Given the description of an element on the screen output the (x, y) to click on. 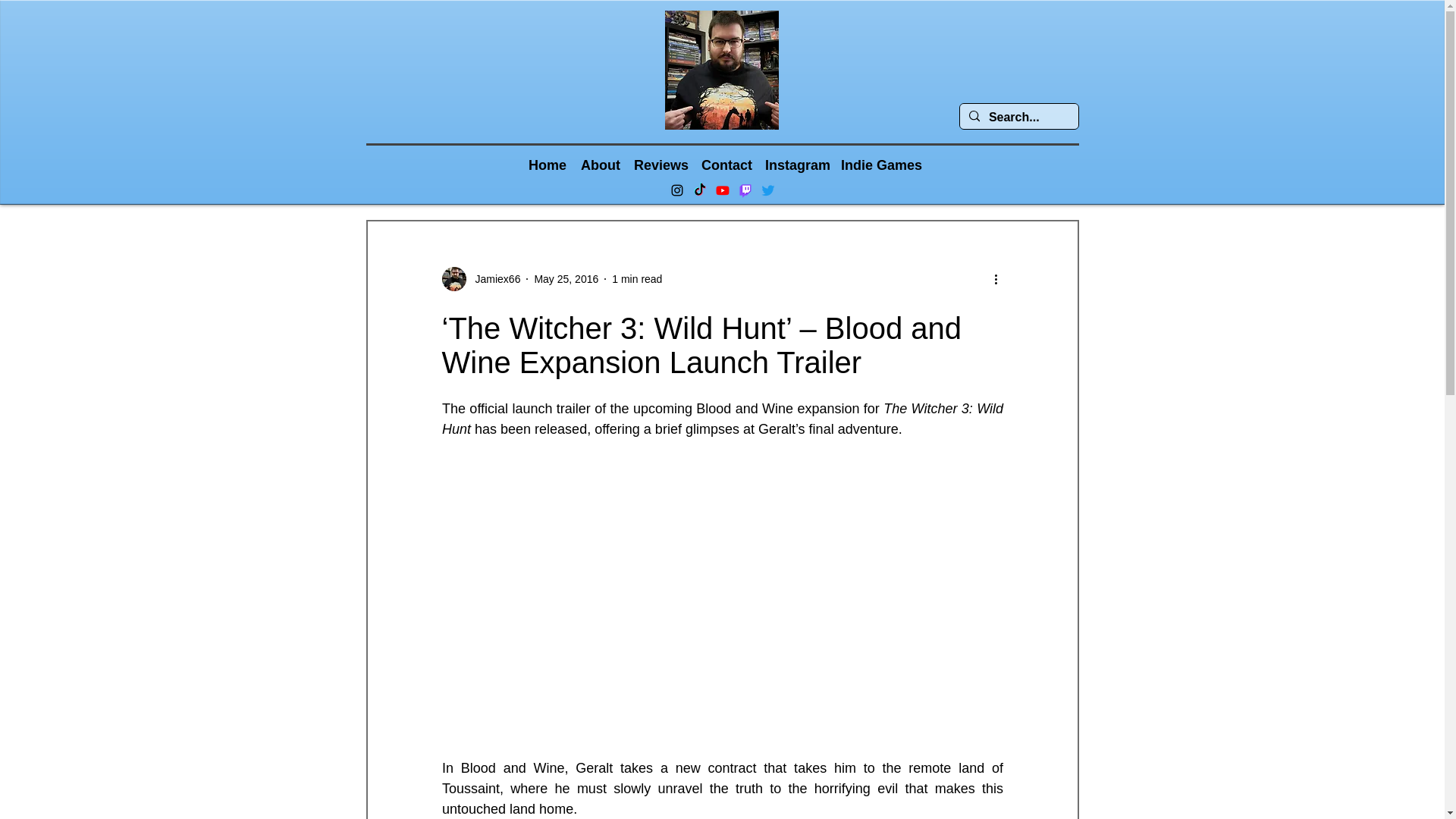
Contact (725, 164)
Home (547, 164)
Reviews (660, 164)
Jamiex66 (492, 279)
May 25, 2016 (566, 278)
Indie Games (877, 164)
1 min read (636, 278)
Instagram (794, 164)
About (599, 164)
